Given the description of an element on the screen output the (x, y) to click on. 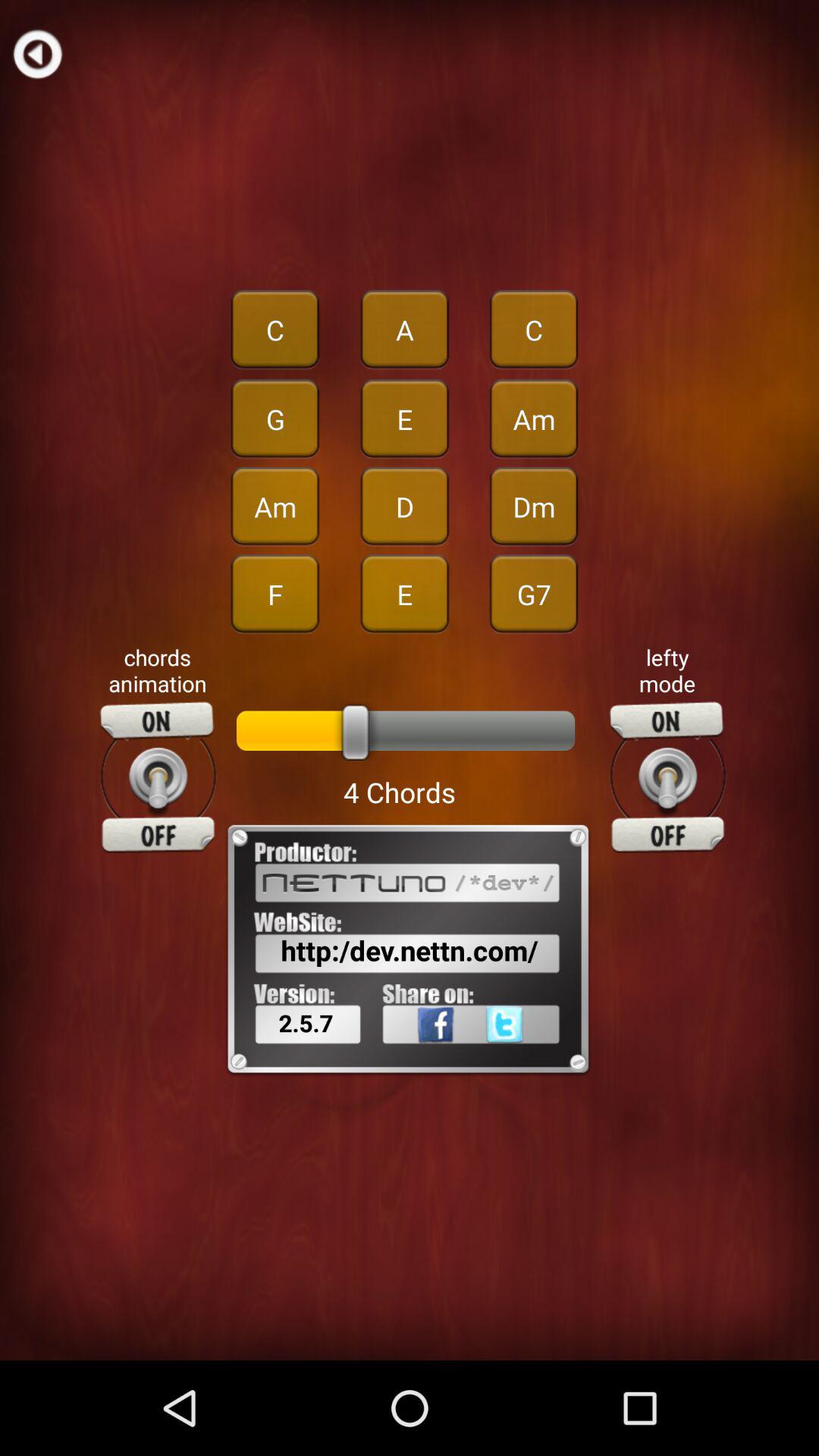
toggle chords animation (157, 777)
